Given the description of an element on the screen output the (x, y) to click on. 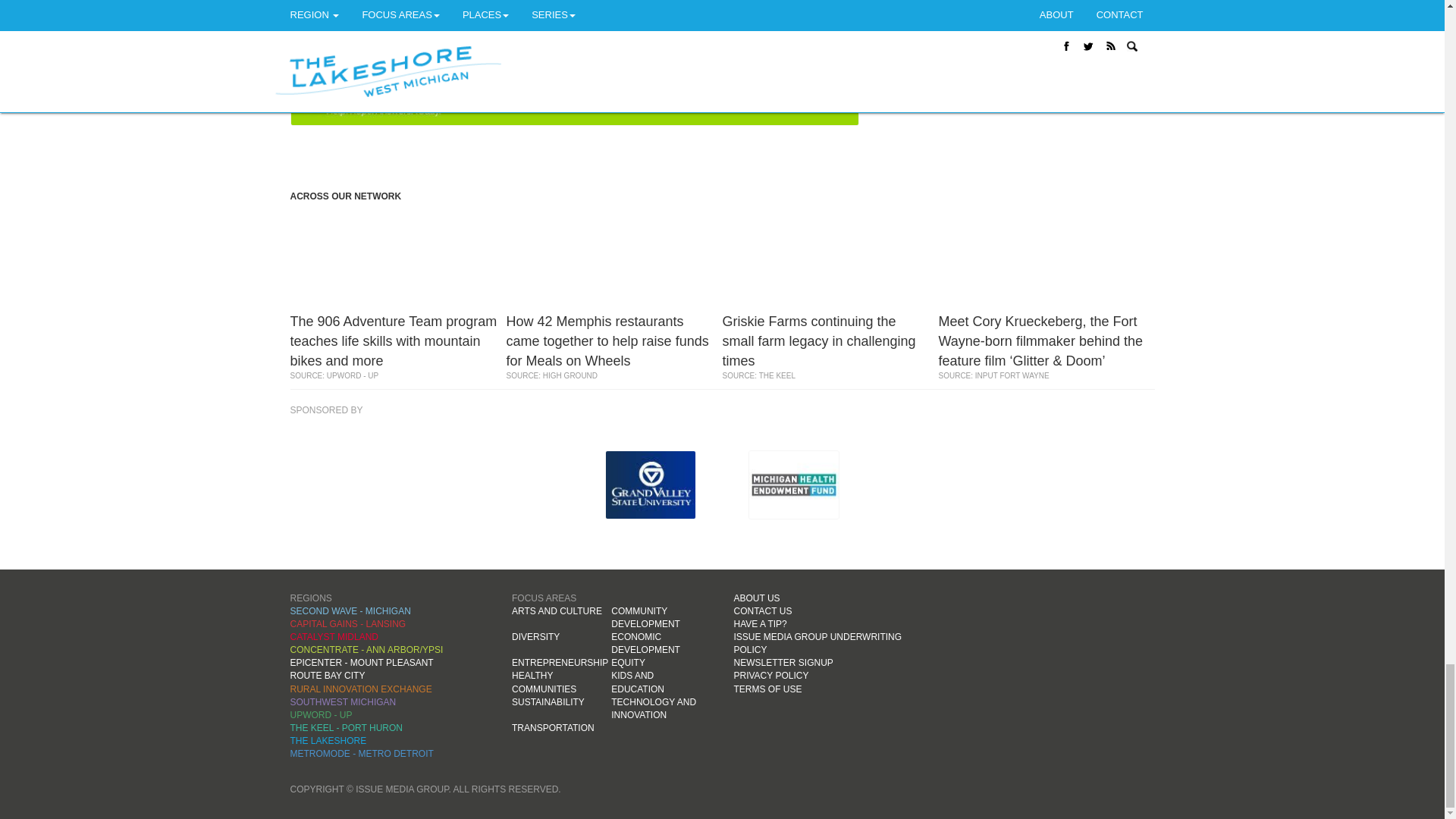
View more stories related to Talent (669, 13)
View more stories related to Designed in Michgian (395, 13)
MHEF (794, 484)
View more stories related to Designed in Michgian (497, 13)
View more stories related to Design (324, 13)
View more stories related to Designed in Michigan (600, 13)
